Given the description of an element on the screen output the (x, y) to click on. 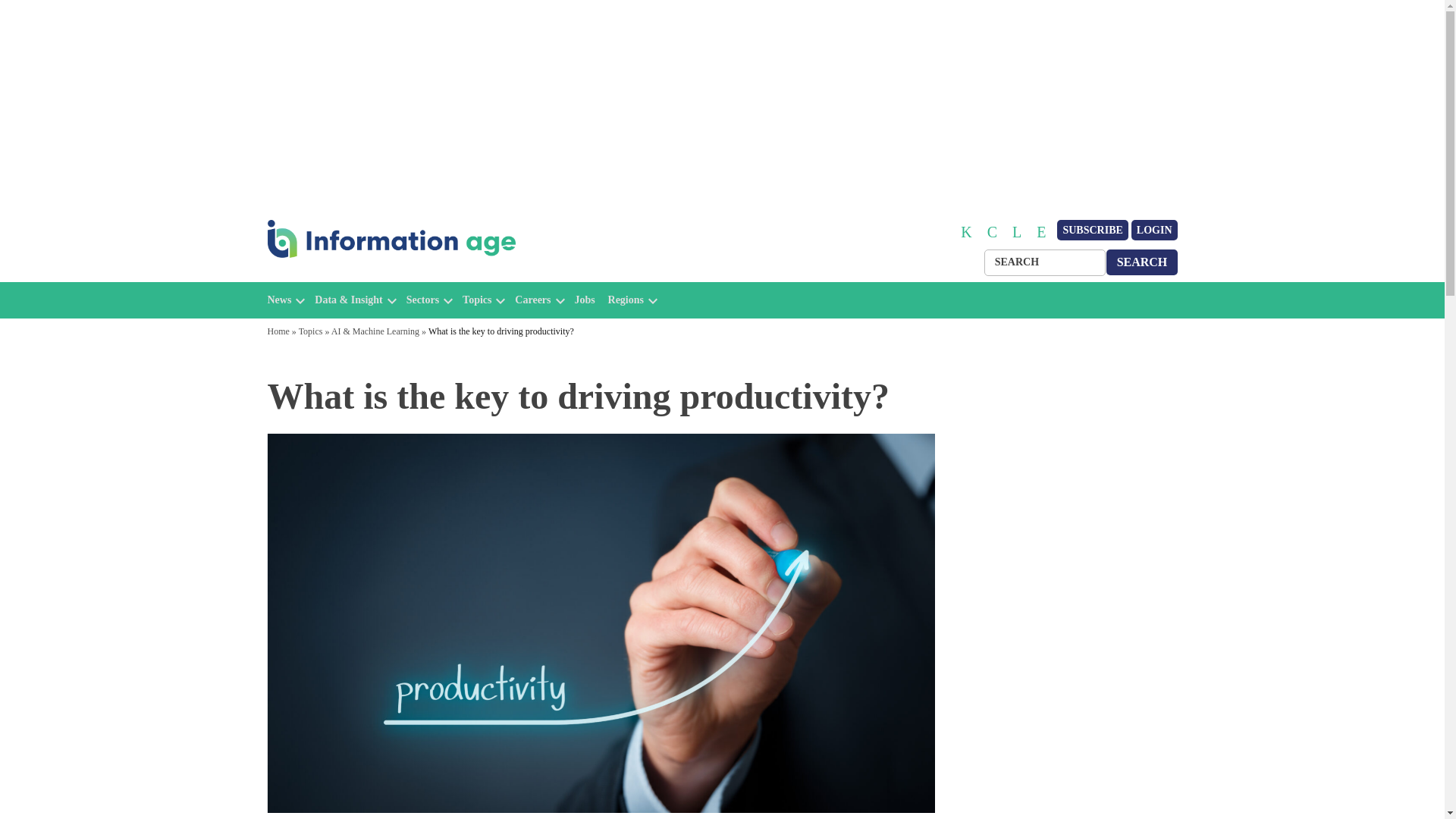
LOGIN (1154, 230)
SEARCH (1142, 261)
News (278, 299)
Sectors (422, 299)
SUBSCRIBE (1091, 230)
Information Age (331, 275)
